Given the description of an element on the screen output the (x, y) to click on. 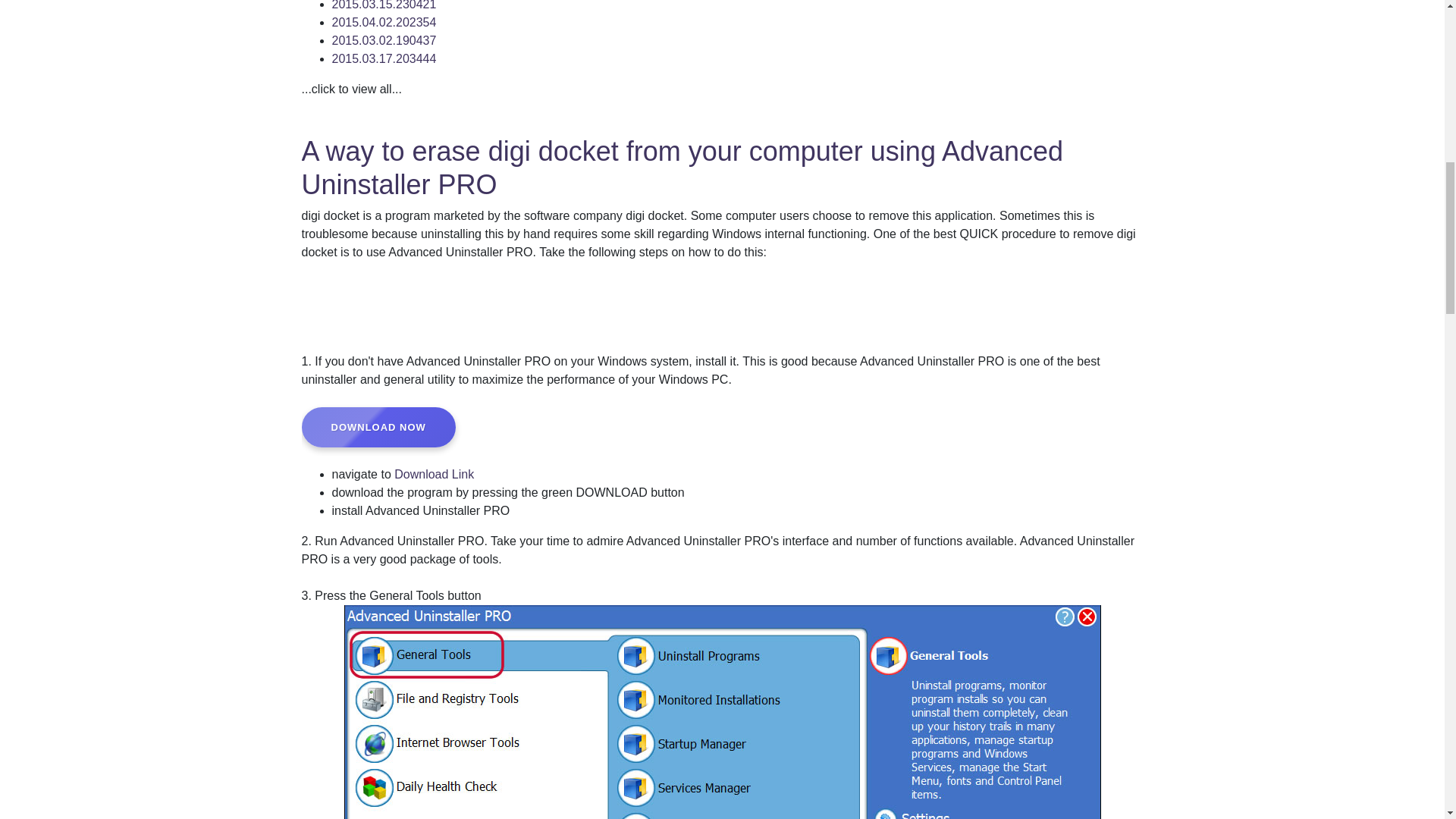
2015.03.17.203444 (383, 58)
2015.03.02.190437 (383, 40)
2015.04.02.202354 (383, 21)
2015.03.15.230421 (383, 5)
